Given the description of an element on the screen output the (x, y) to click on. 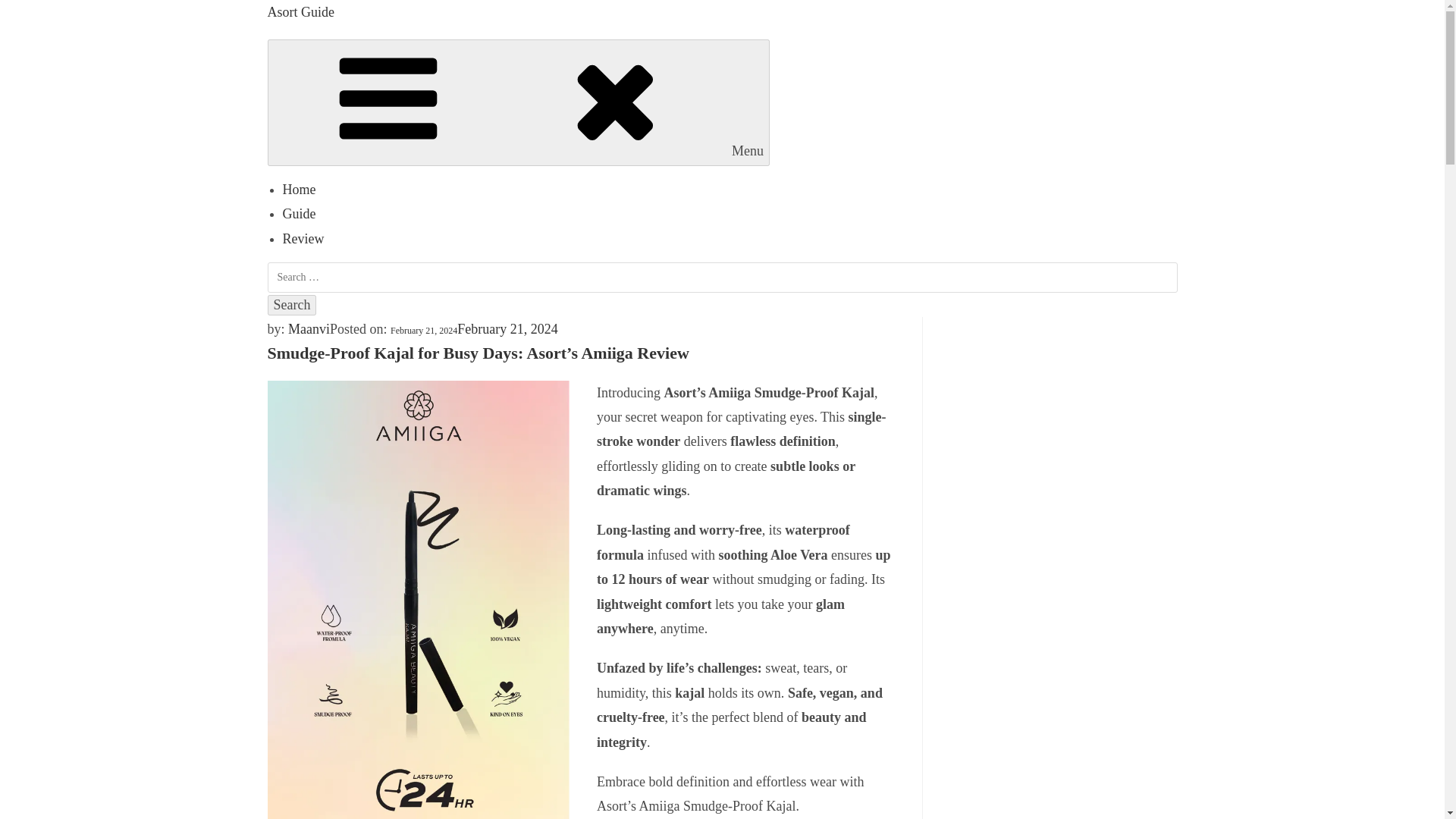
Search (290, 304)
Guide (298, 213)
February 21, 2024February 21, 2024 (473, 328)
Review (302, 238)
Maanvi (309, 328)
Search (290, 304)
Home (298, 189)
Menu (518, 102)
Asort Guide (300, 11)
Search (290, 304)
